Given the description of an element on the screen output the (x, y) to click on. 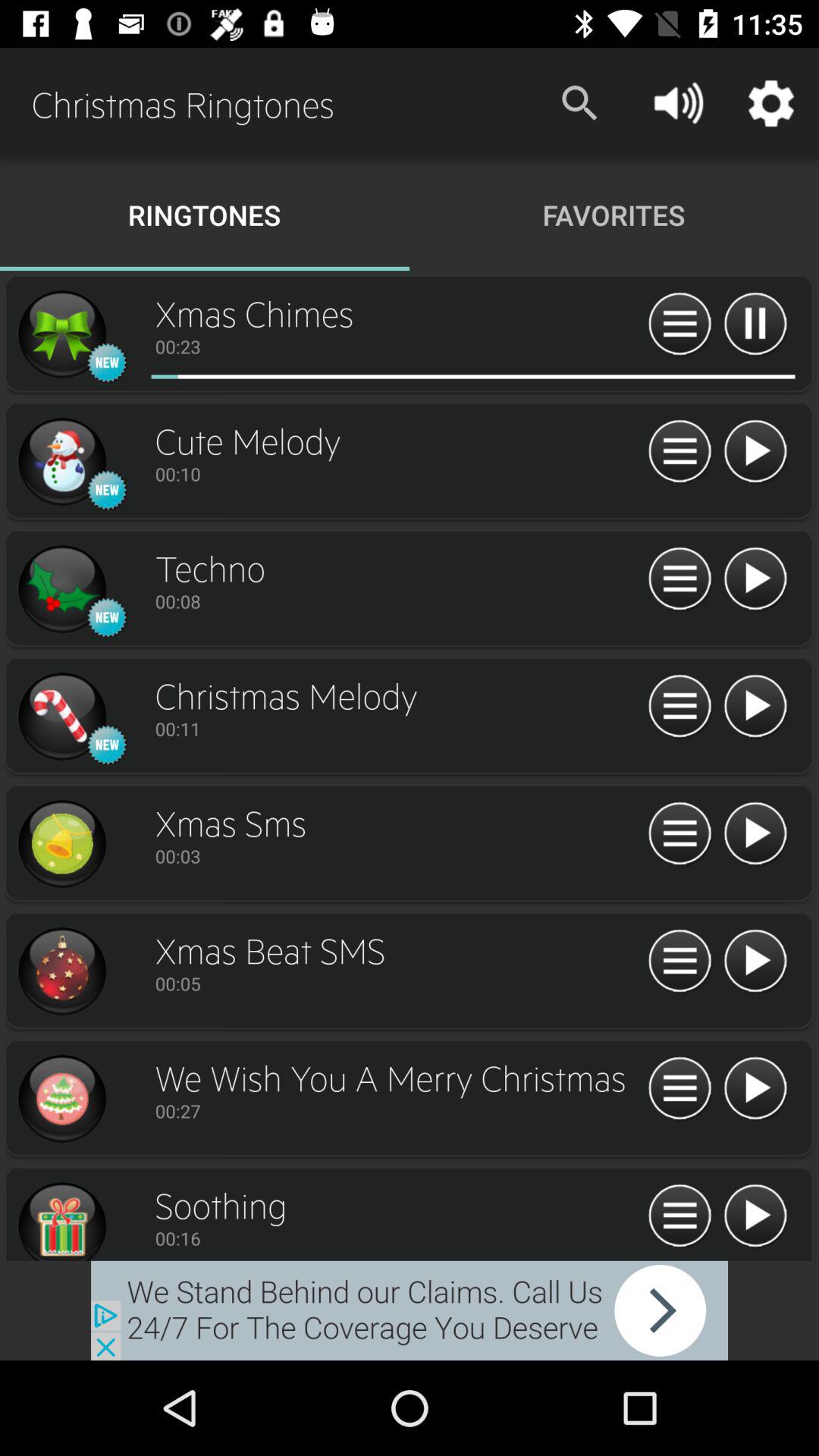
switch techno option (61, 589)
